Given the description of an element on the screen output the (x, y) to click on. 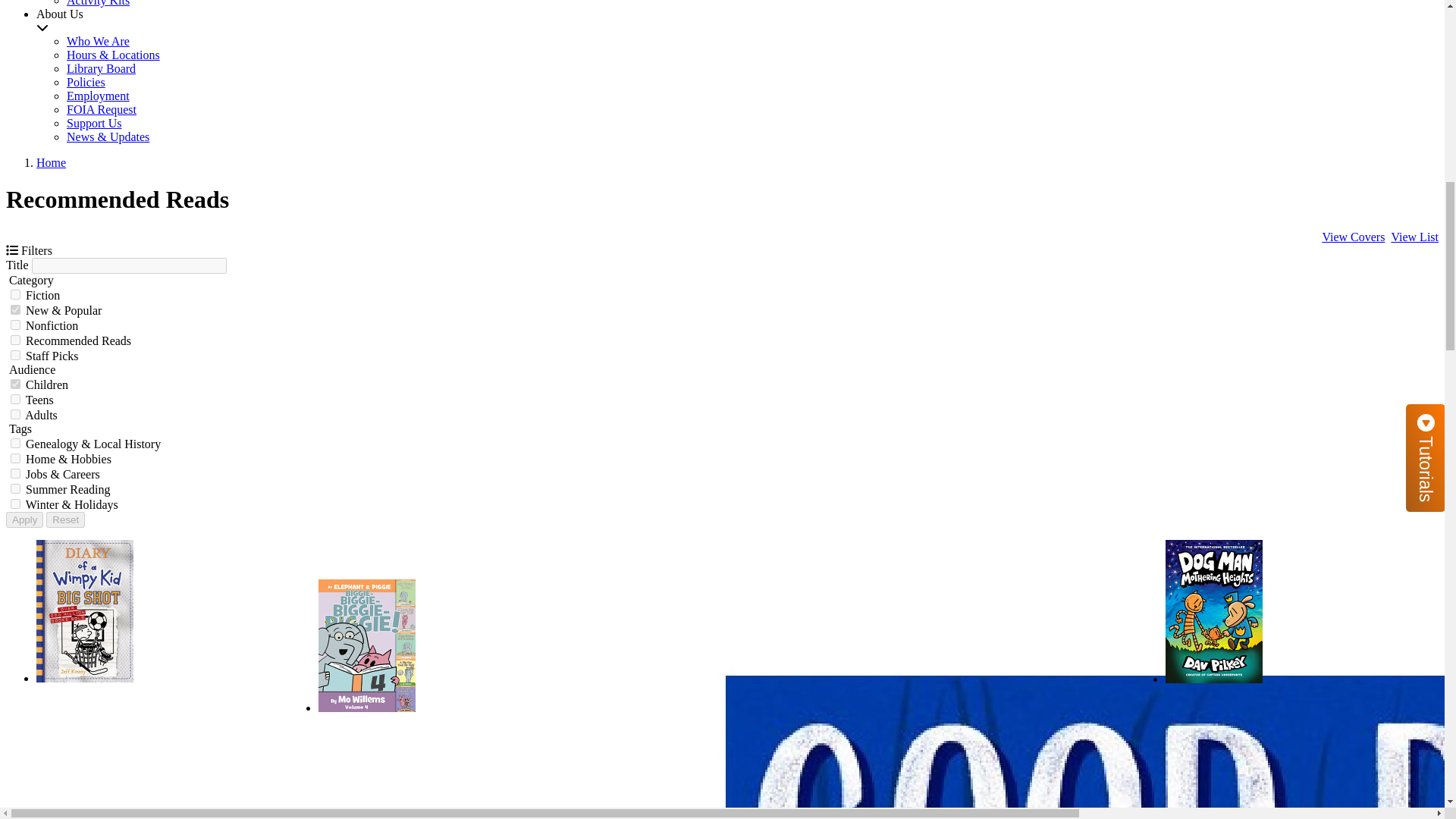
301 (15, 398)
360 (15, 325)
380 (15, 442)
379 (15, 473)
Apply (24, 519)
359 (15, 294)
381 (15, 503)
302 (15, 414)
382 (15, 309)
361 (15, 355)
383 (15, 458)
390 (15, 339)
300 (15, 384)
389 (15, 488)
